Given the description of an element on the screen output the (x, y) to click on. 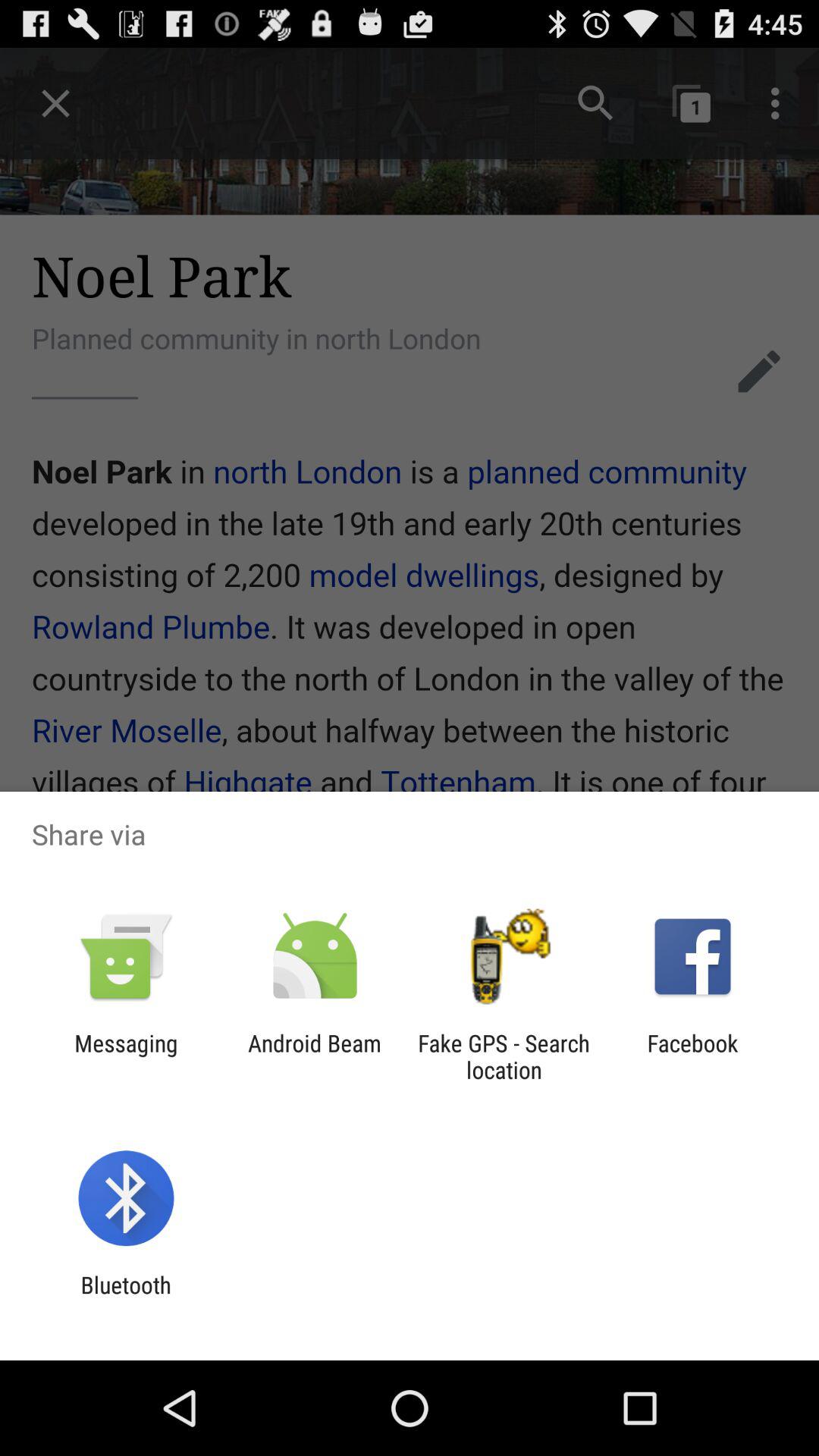
jump to messaging icon (126, 1056)
